Given the description of an element on the screen output the (x, y) to click on. 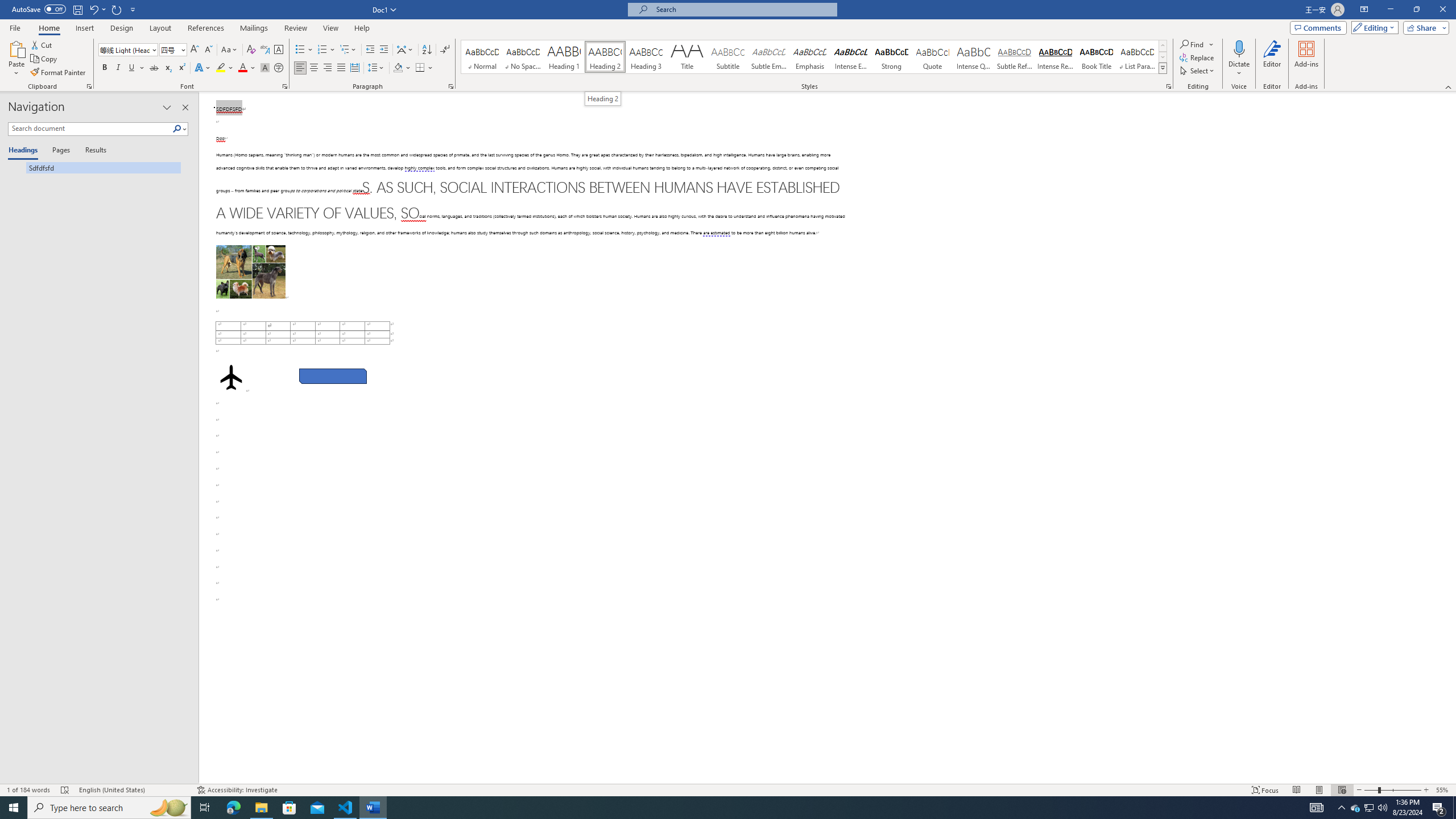
Search document (89, 128)
Language English (United States) (132, 790)
Row Down (1162, 56)
Replace... (1197, 56)
Office Clipboard... (88, 85)
